Given the description of an element on the screen output the (x, y) to click on. 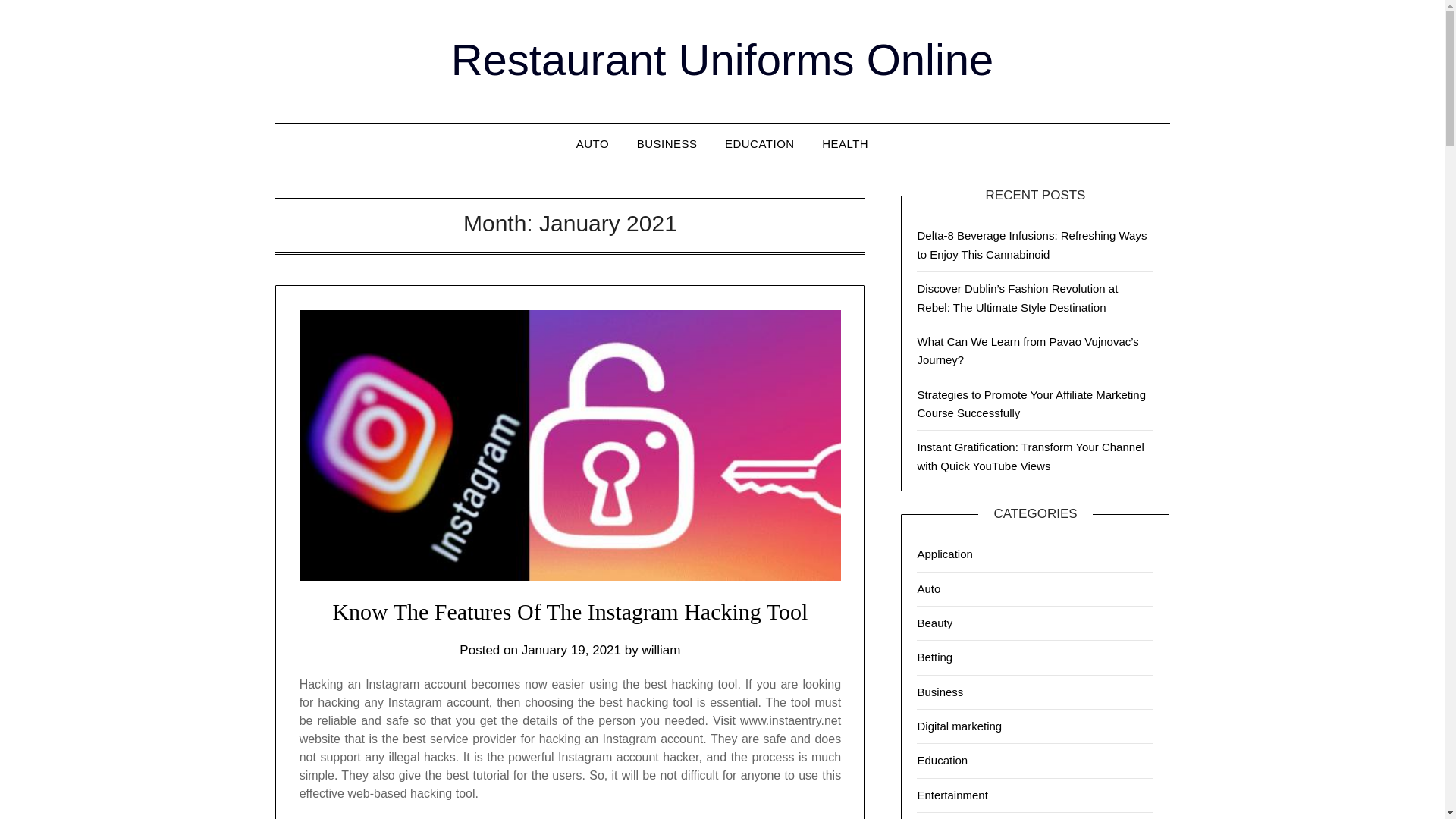
January 19, 2021 (571, 649)
EDUCATION (759, 143)
AUTO (592, 143)
Auto (928, 588)
HEALTH (844, 143)
Business (939, 691)
Education (942, 759)
Know The Features Of The Instagram Hacking Tool (569, 611)
BUSINESS (667, 143)
Entertainment (952, 794)
Restaurant Uniforms Online (722, 59)
Digital marketing (959, 725)
